Given the description of an element on the screen output the (x, y) to click on. 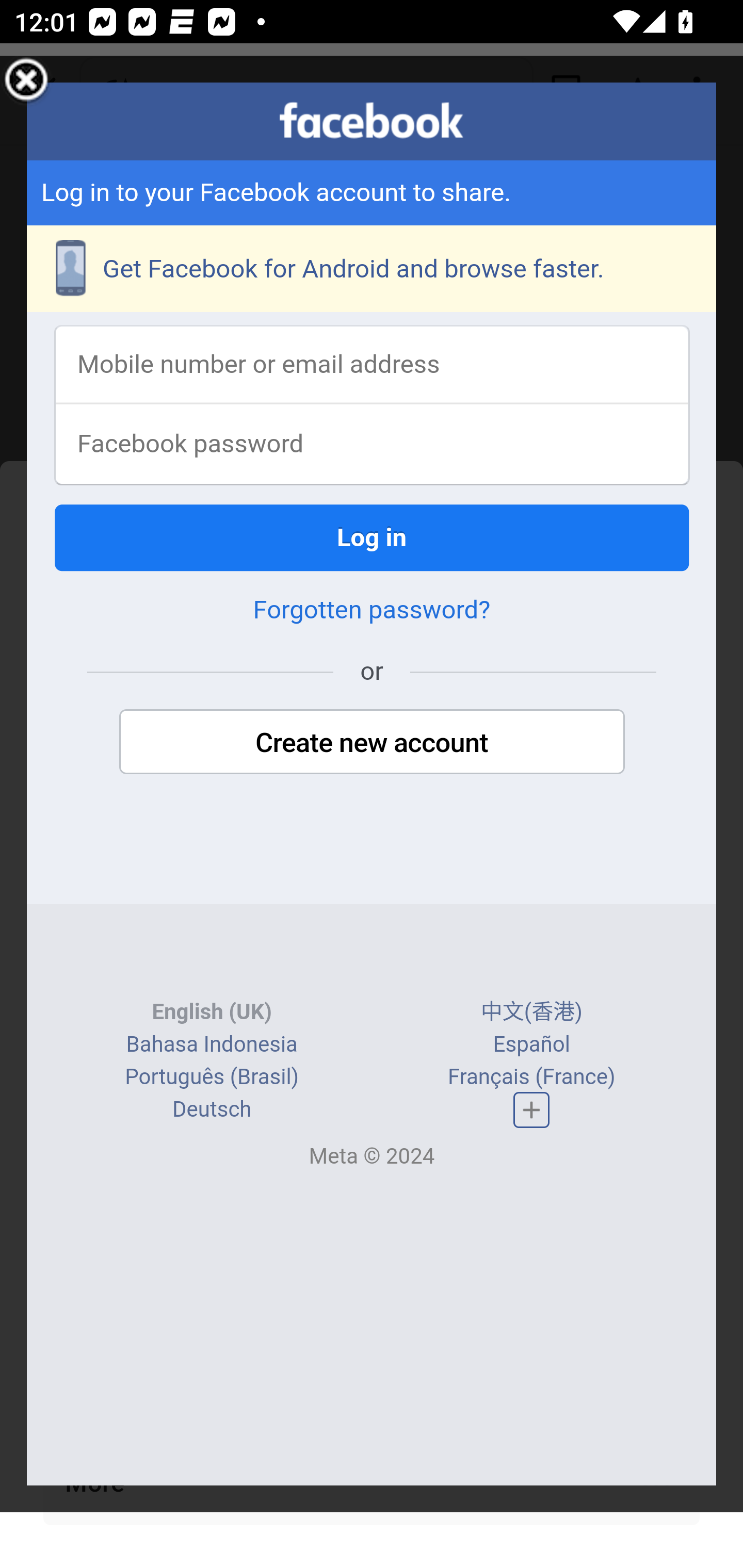
facebook (372, 121)
Get Facebook for Android and browse faster. (372, 270)
Log in (372, 538)
Forgotten password? (371, 611)
Create new account (371, 743)
中文(香港) (531, 1013)
Bahasa Indonesia (210, 1044)
Español (530, 1044)
Português (Brasil) (211, 1077)
Français (France) (530, 1077)
Complete list of languages (531, 1110)
Deutsch (211, 1110)
